Given the description of an element on the screen output the (x, y) to click on. 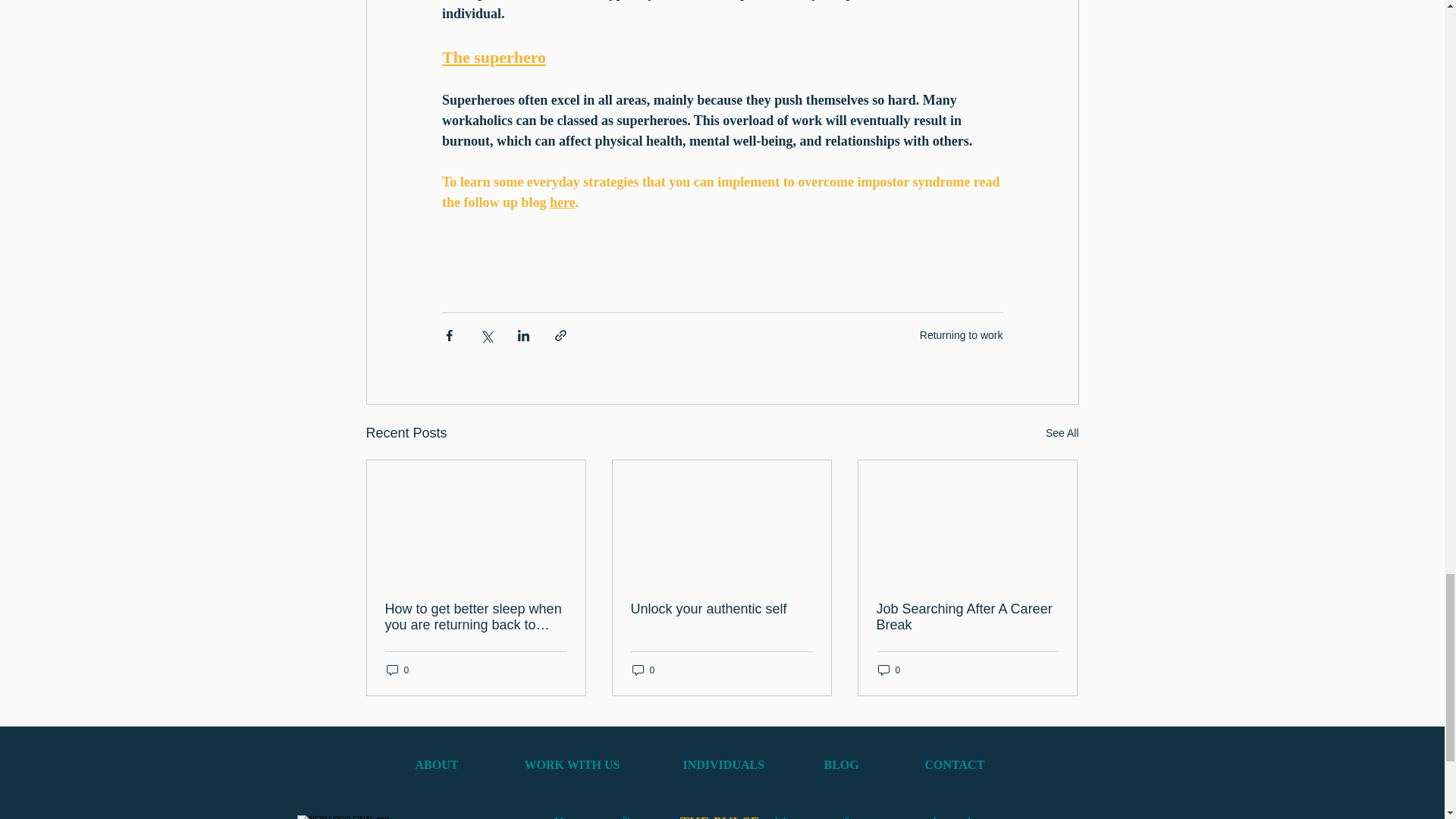
Job Searching After A Career Break (967, 617)
here (562, 201)
0 (889, 669)
0 (643, 669)
Returning to work (961, 335)
See All (1061, 433)
How to get better sleep when you are returning back to work (476, 617)
Unlock your authentic self (721, 609)
ABOUT (457, 764)
0 (397, 669)
